Given the description of an element on the screen output the (x, y) to click on. 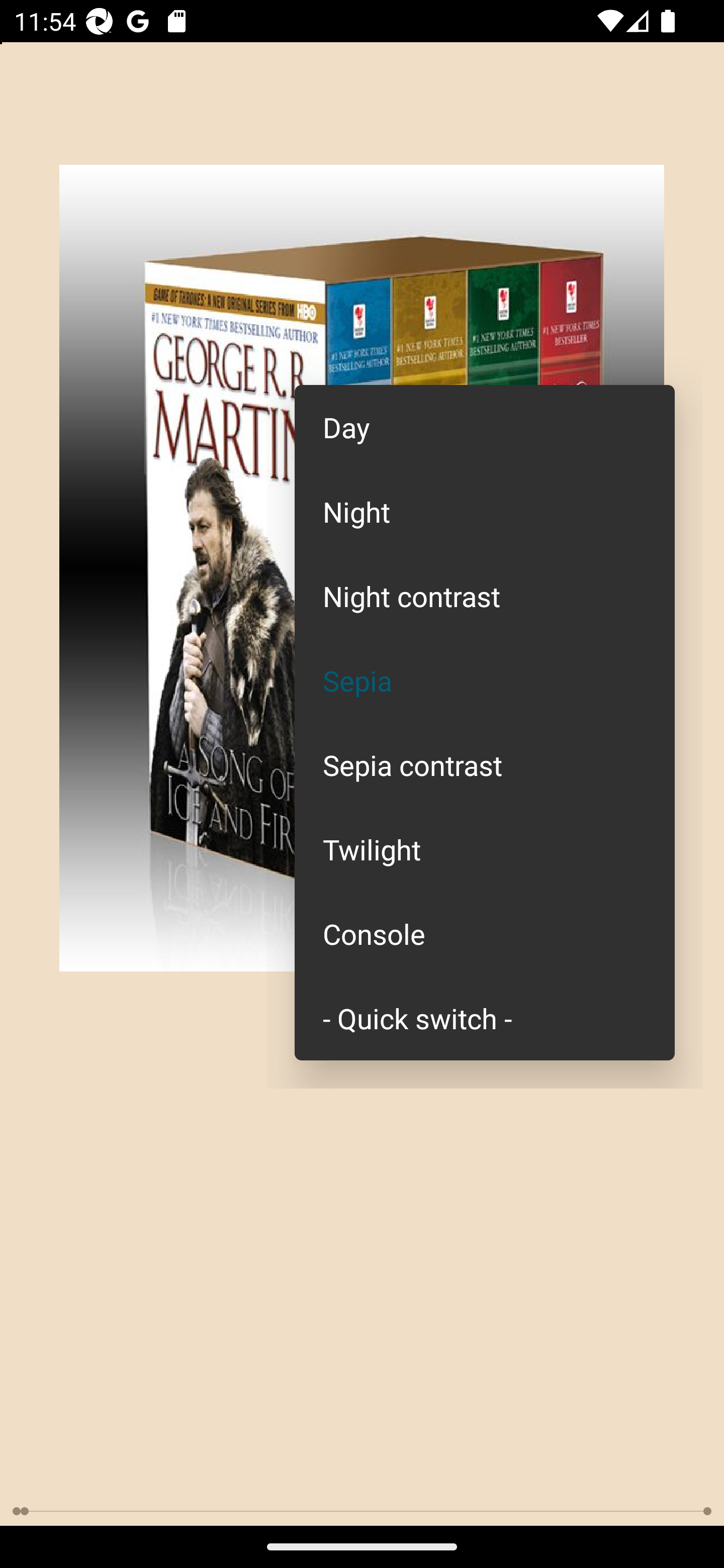
Day (484, 426)
Night (484, 510)
Night contrast (484, 595)
Sepia (484, 680)
Sepia contrast (484, 764)
Twilight (484, 849)
Console (484, 933)
- Quick switch - (484, 1017)
